Given the description of an element on the screen output the (x, y) to click on. 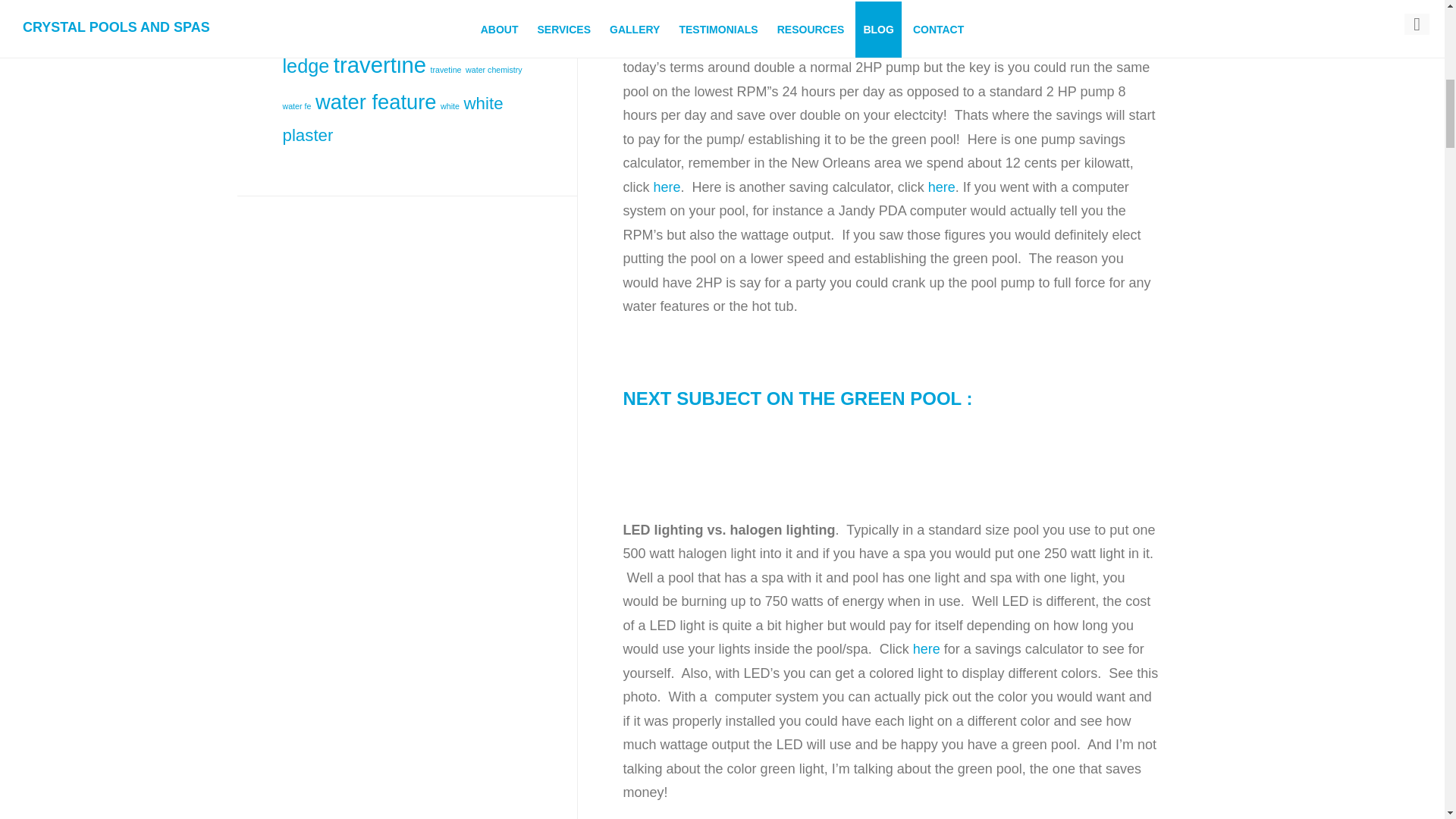
here (941, 186)
here (667, 186)
here (926, 648)
